Given the description of an element on the screen output the (x, y) to click on. 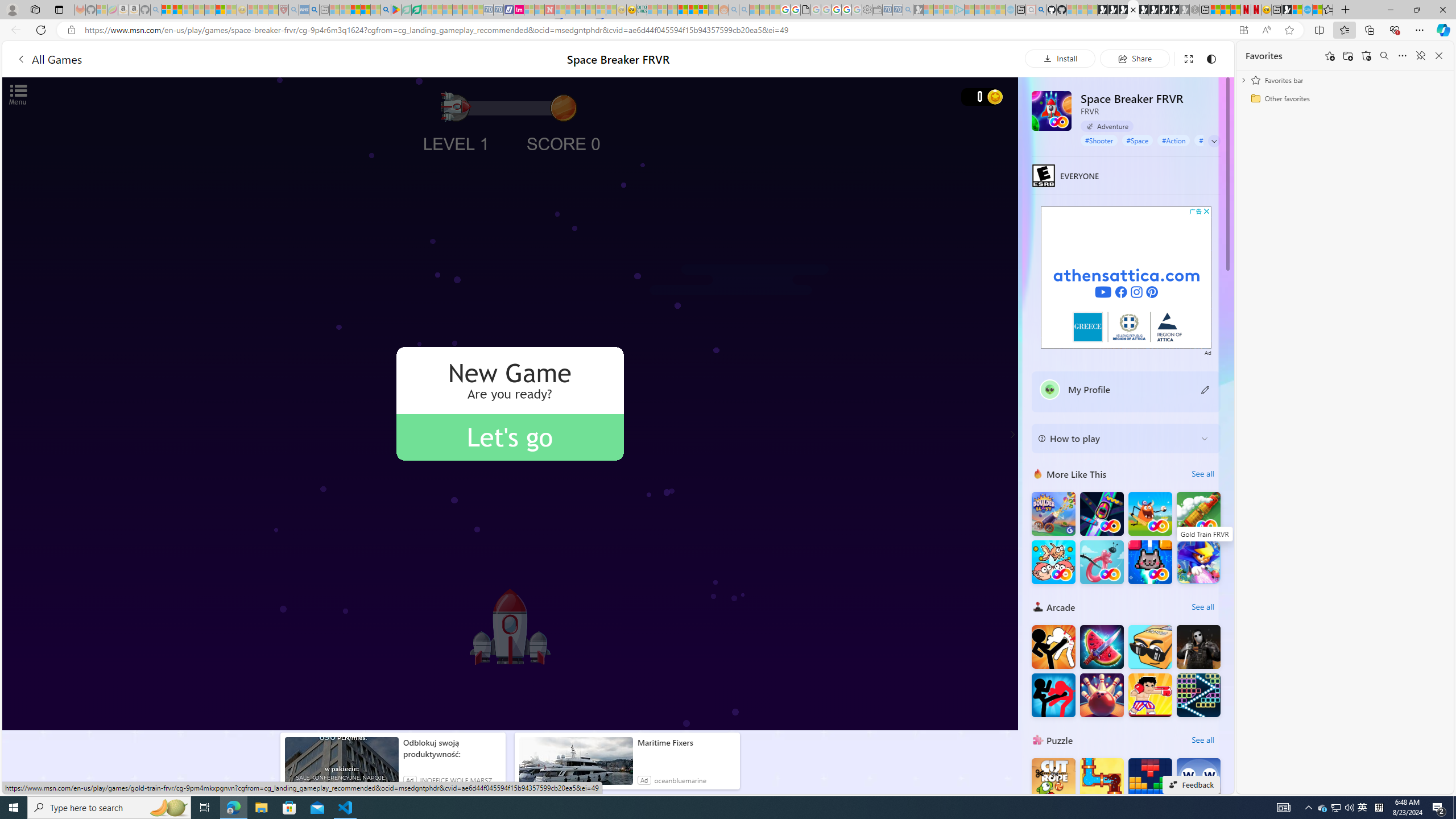
Fish Merge FRVR (1053, 562)
Install (1060, 58)
The Weather Channel - MSN - Sleeping (187, 9)
Restore deleted favorites (1366, 55)
EVERYONE (1043, 175)
utah sues federal government - Search (314, 9)
Expert Portfolios (682, 9)
Add folder (1347, 55)
Trusted Community Engagement and Contributions | Guidelines (559, 9)
Class: button edit-icon (1205, 388)
